Given the description of an element on the screen output the (x, y) to click on. 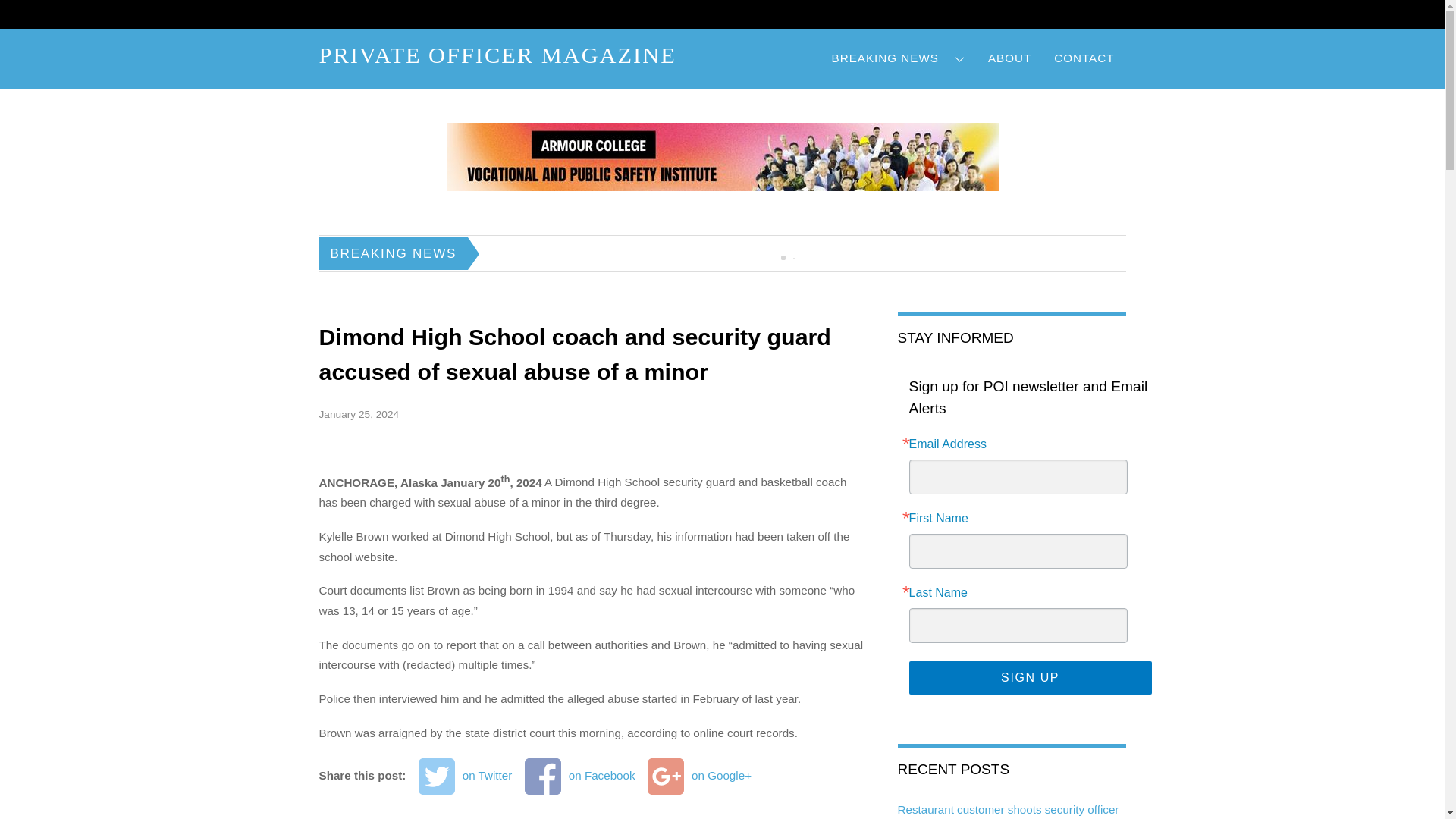
PRIVATE OFFICER MAGAZINE (496, 54)
CONTACT (1083, 58)
Private Officer Magazine (496, 54)
Restaurant customer shoots security officer over unpaid tab (1008, 811)
on Twitter (465, 775)
BREAKING NEWS (898, 58)
SIGN UP (1029, 677)
on Facebook (579, 775)
ABOUT (1009, 58)
